Given the description of an element on the screen output the (x, y) to click on. 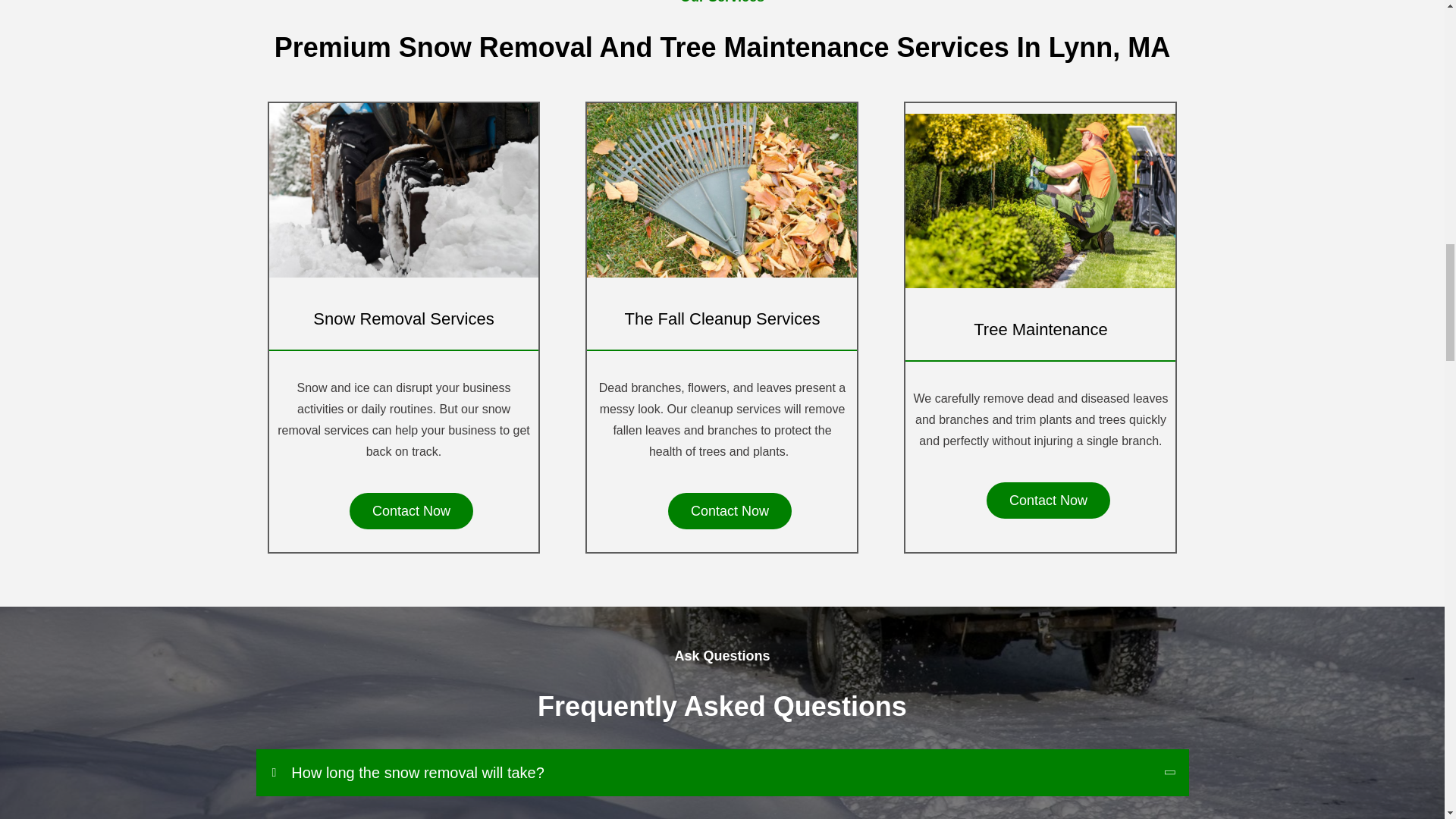
Contact Now (411, 511)
Contact Now (1048, 500)
Contact Now (730, 511)
